Given the description of an element on the screen output the (x, y) to click on. 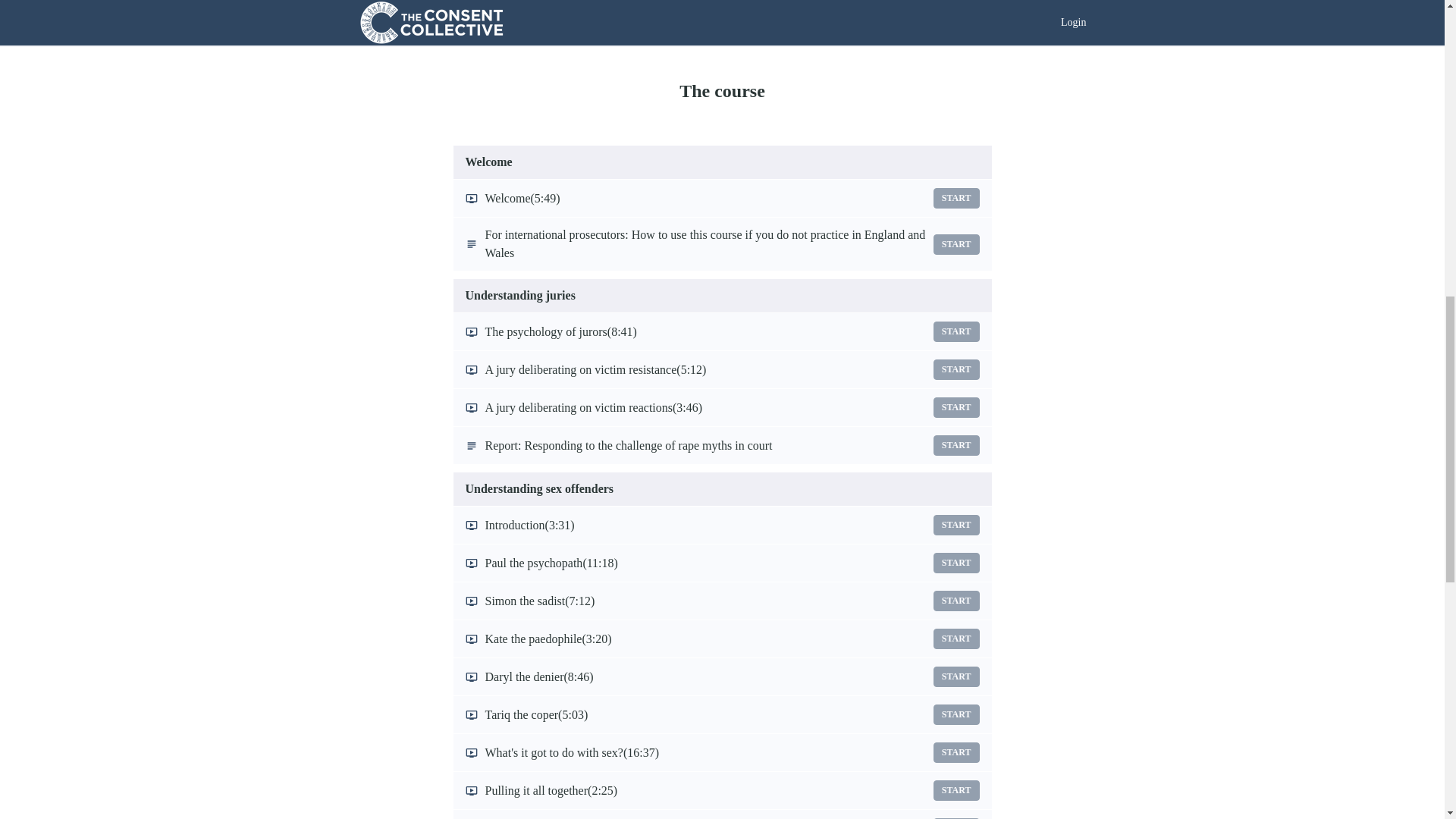
START (956, 714)
START (956, 331)
START (956, 752)
START (956, 525)
START (956, 243)
START (956, 562)
START (956, 198)
START (956, 676)
START (956, 407)
